Given the description of an element on the screen output the (x, y) to click on. 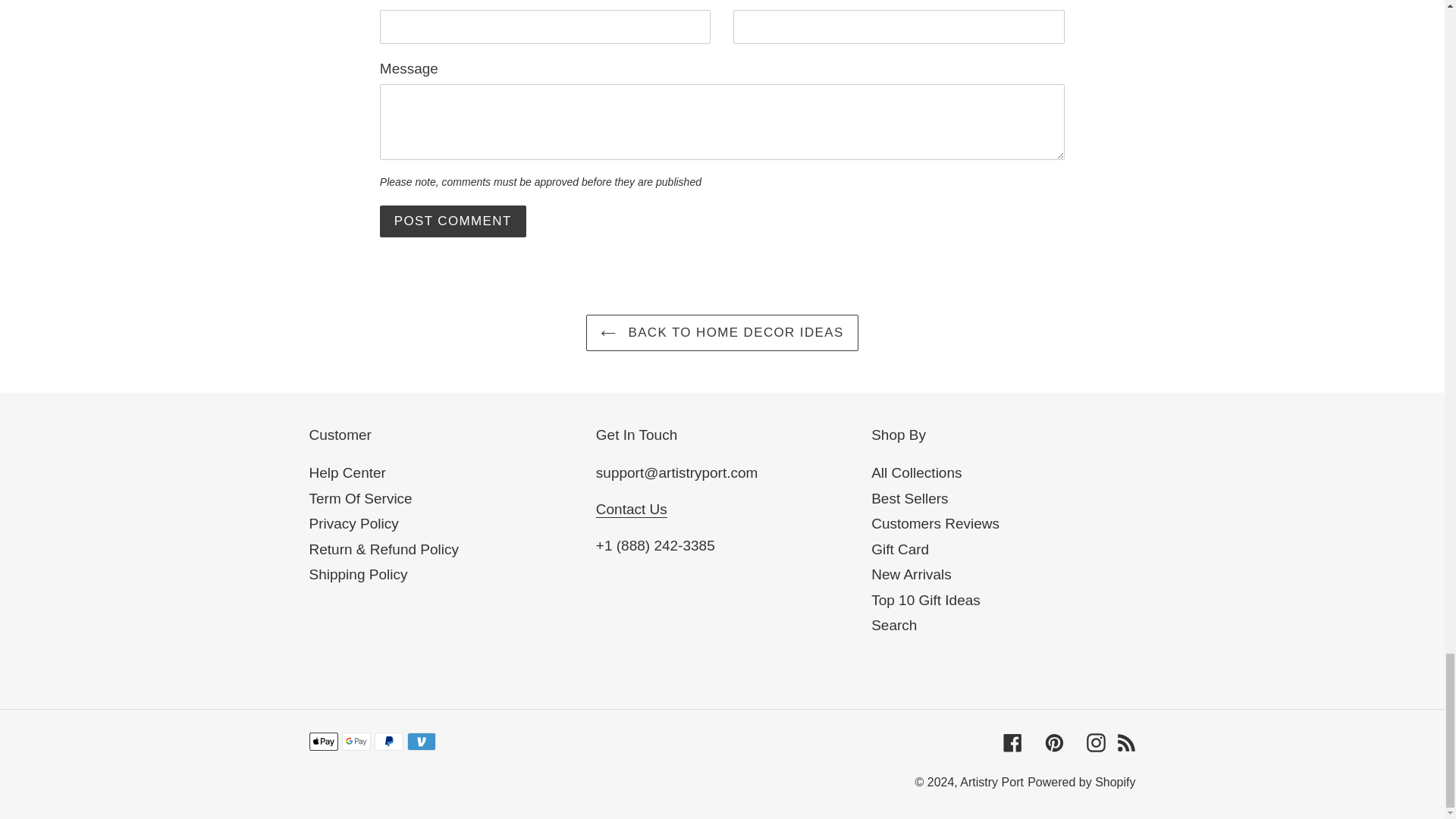
Contact Us (630, 509)
Post comment (452, 221)
